Given the description of an element on the screen output the (x, y) to click on. 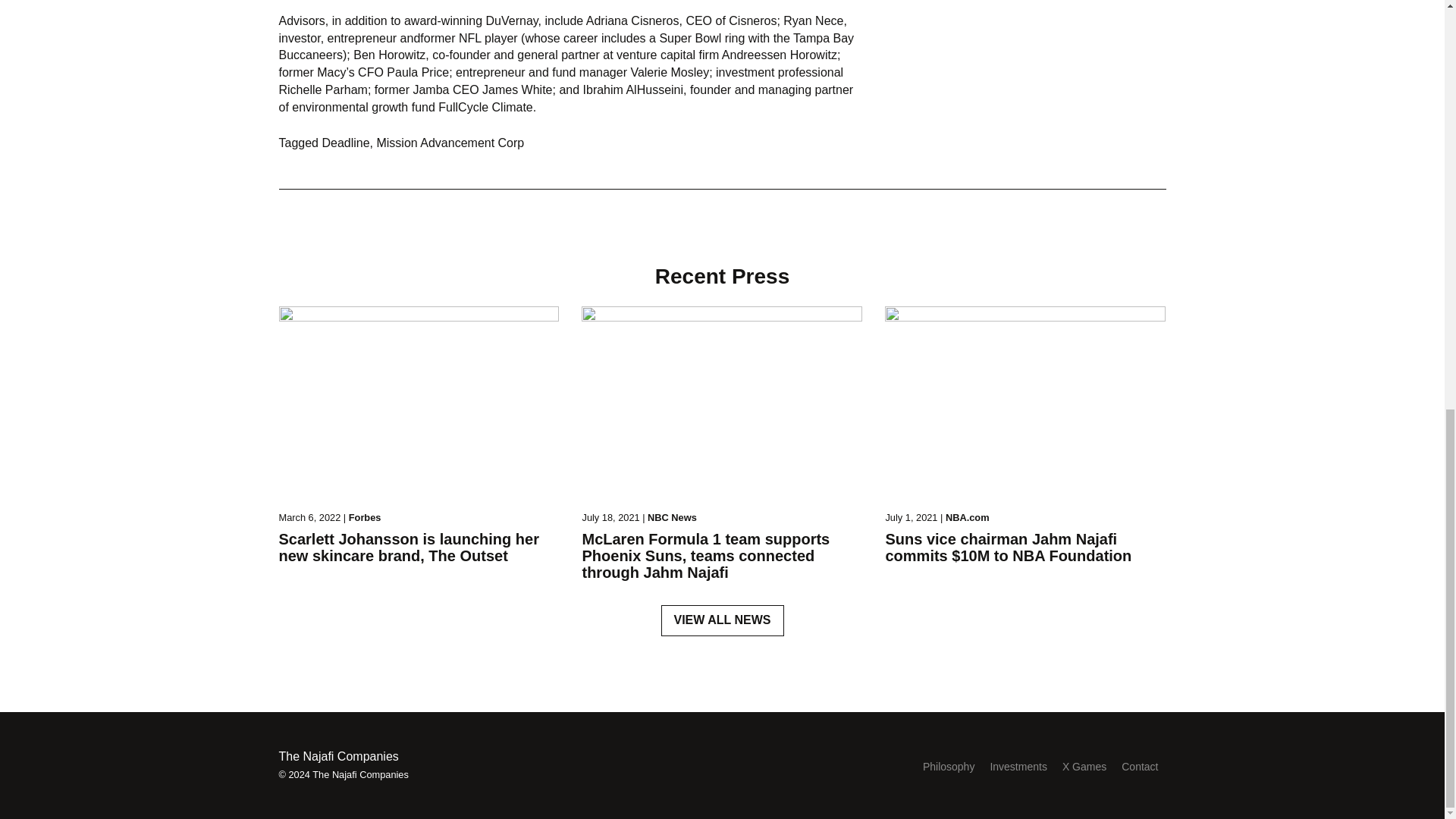
Investments (1017, 767)
Philosophy (948, 767)
NBA.com (967, 517)
X Games (1083, 767)
NBC News (672, 517)
Forbes (365, 517)
X Games (1083, 767)
Deadline (345, 142)
